Given the description of an element on the screen output the (x, y) to click on. 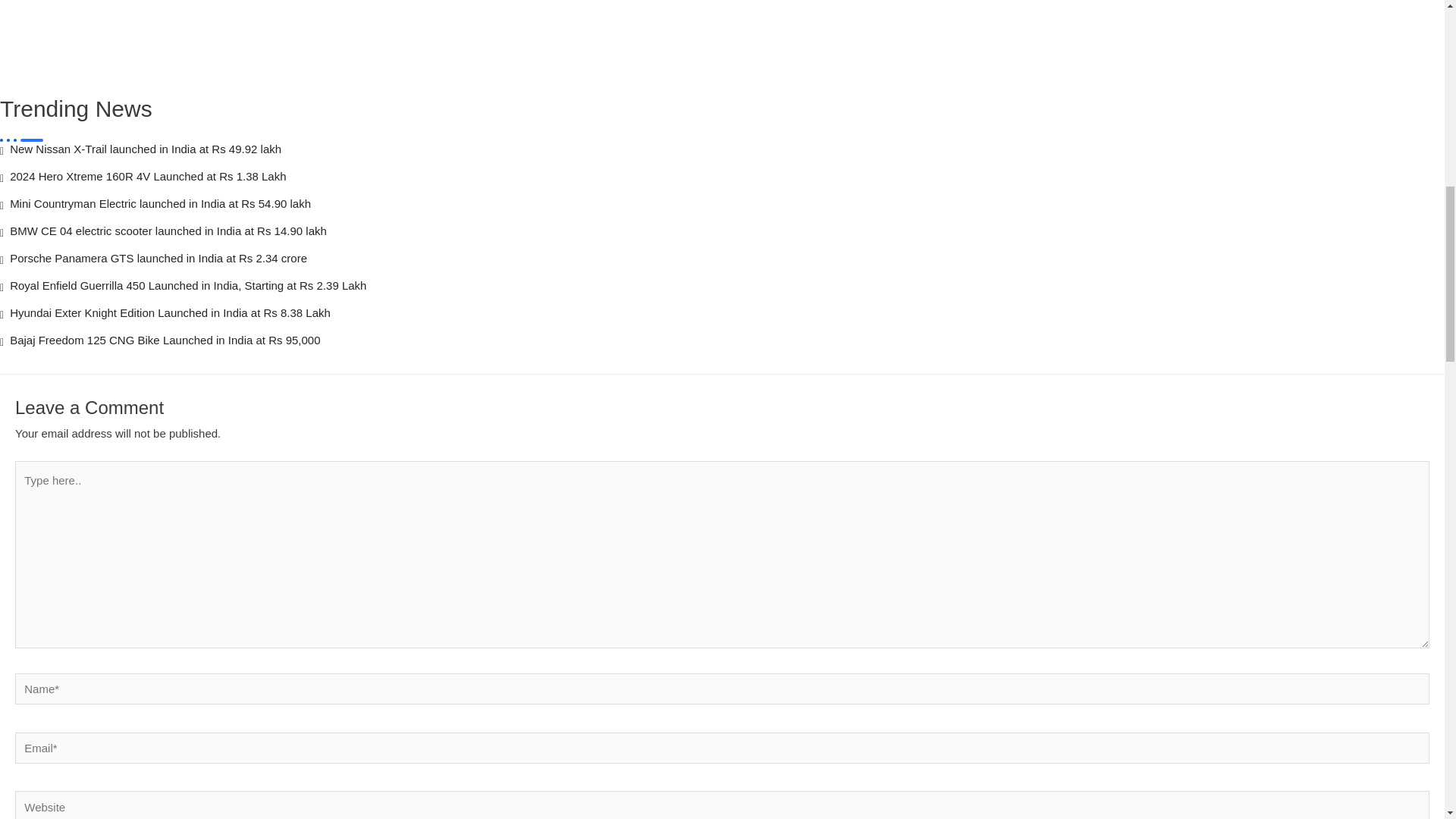
Bajaj Freedom 125 CNG Bike Launched in India at Rs 95,000 (722, 342)
2024 Hero Xtreme 160R 4V Launched at Rs 1.38 Lakh (722, 178)
Mini Countryman Electric launched in India at Rs 54.90 lakh (722, 206)
Porsche Panamera GTS launched in India at Rs 2.34 crore (722, 260)
New Nissan X-Trail launched in India at Rs 49.92 lakh (722, 151)
